Given the description of an element on the screen output the (x, y) to click on. 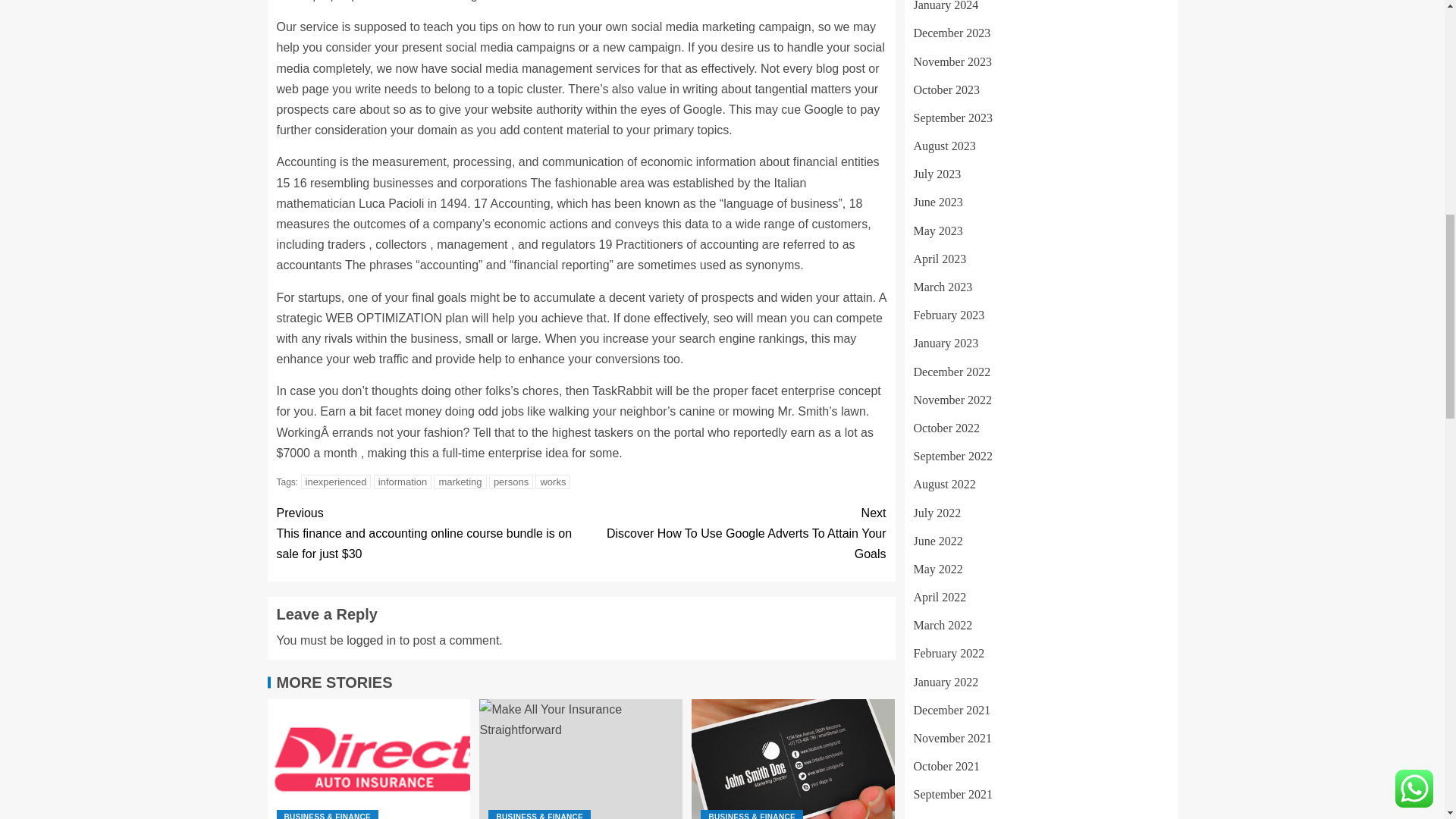
Wix Evaluate 2020 (732, 533)
marketing (368, 759)
information (459, 481)
logged in (402, 481)
Purchase Excessive Quality Backlinks (371, 640)
inexperienced (793, 759)
persons (336, 481)
Make All Your Insurance Straightforward (510, 481)
works (580, 759)
